Given the description of an element on the screen output the (x, y) to click on. 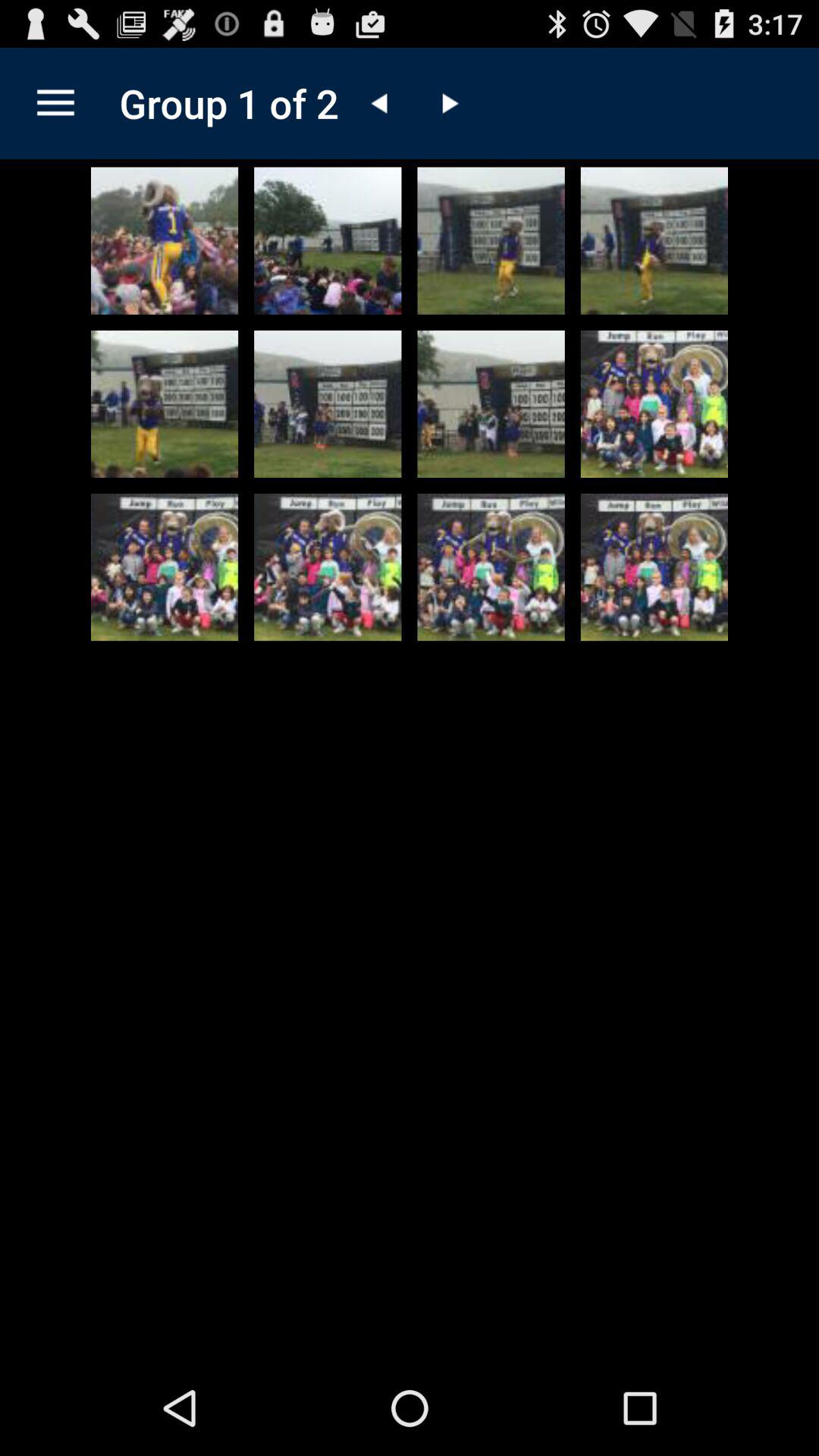
view photo (490, 566)
